Given the description of an element on the screen output the (x, y) to click on. 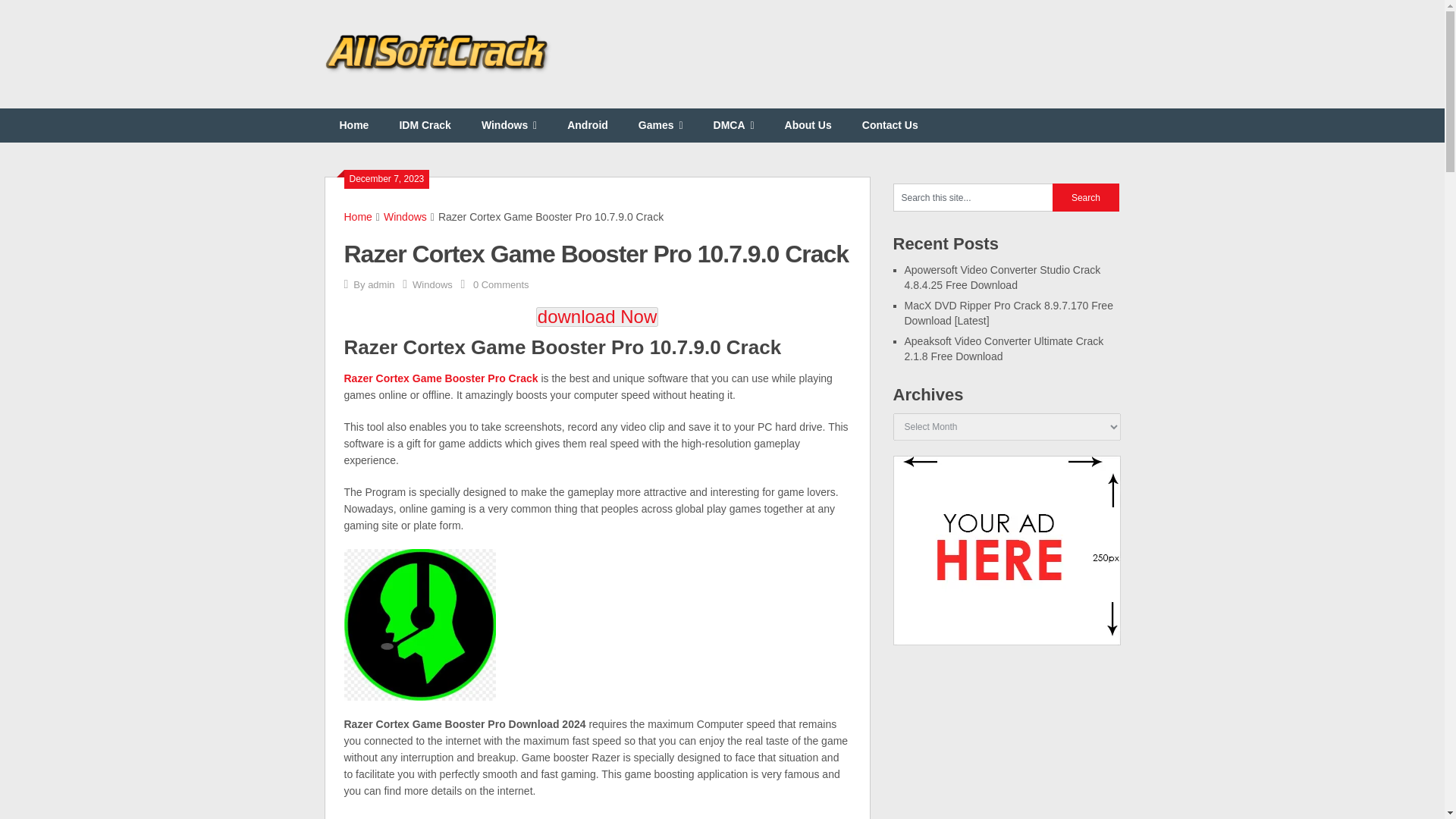
Search (1085, 197)
admin (381, 284)
0 Comments (501, 284)
Contact Us (890, 125)
Razer Cortex Game Booster Pro Crack (440, 378)
About Us (808, 125)
Home (354, 125)
Windows (405, 216)
Home (357, 216)
DMCA (734, 125)
